Given the description of an element on the screen output the (x, y) to click on. 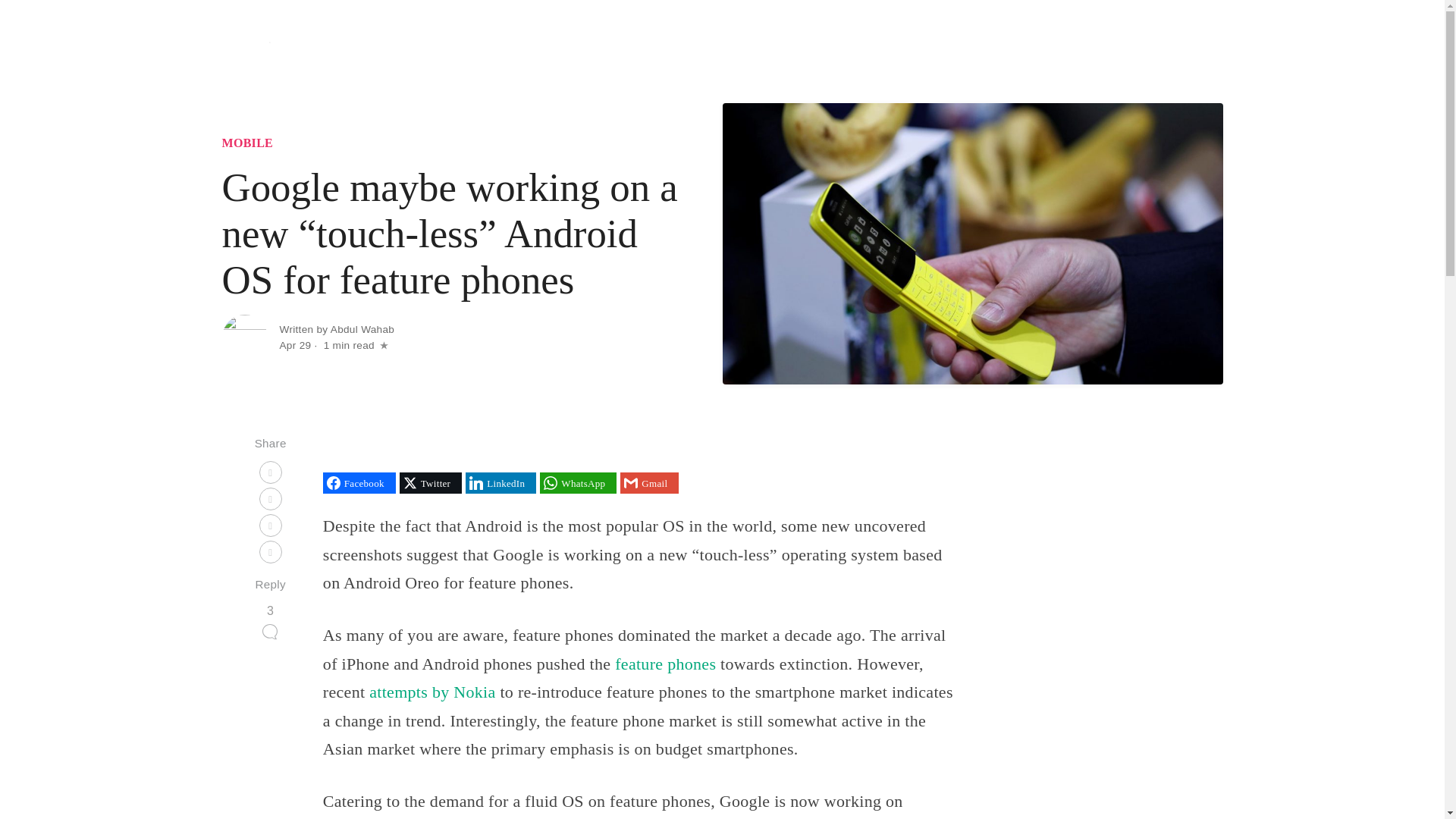
Writers (1192, 49)
MOBILE (247, 142)
Investment (1037, 49)
Written by Abdul Wahab (336, 328)
Share on WhatsApp (577, 482)
Share on Twitter (429, 482)
Share on Gmail (649, 482)
Share on LinkedIn (500, 482)
Online Earning (1116, 49)
Technology (849, 49)
Mobile (972, 49)
Startups (914, 49)
Twitter (429, 482)
LinkedIn (500, 482)
Share on Facebook (359, 482)
